Given the description of an element on the screen output the (x, y) to click on. 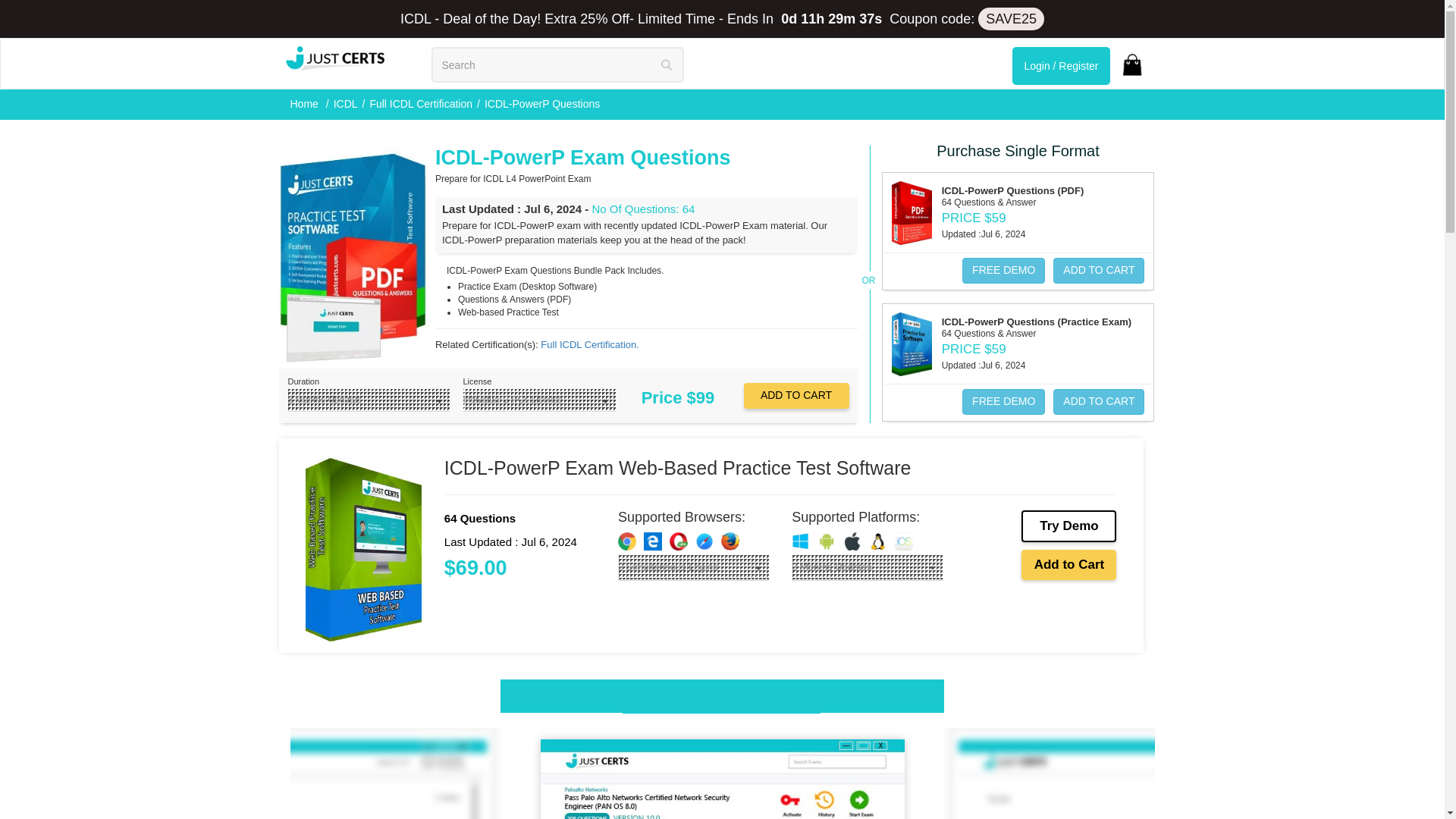
Full ICDL Certification (589, 344)
ICDL (345, 103)
Desktop Practice Test Demo (722, 696)
ADD TO CART (1098, 270)
Home (304, 103)
Add to Cart (1069, 564)
FREE DEMO (1003, 270)
ADD TO CART (1098, 401)
ADD TO CART (795, 395)
FREE DEMO (1003, 401)
Try Demo (1069, 526)
ADD TO CART (795, 395)
Full ICDL Certification (420, 103)
